Given the description of an element on the screen output the (x, y) to click on. 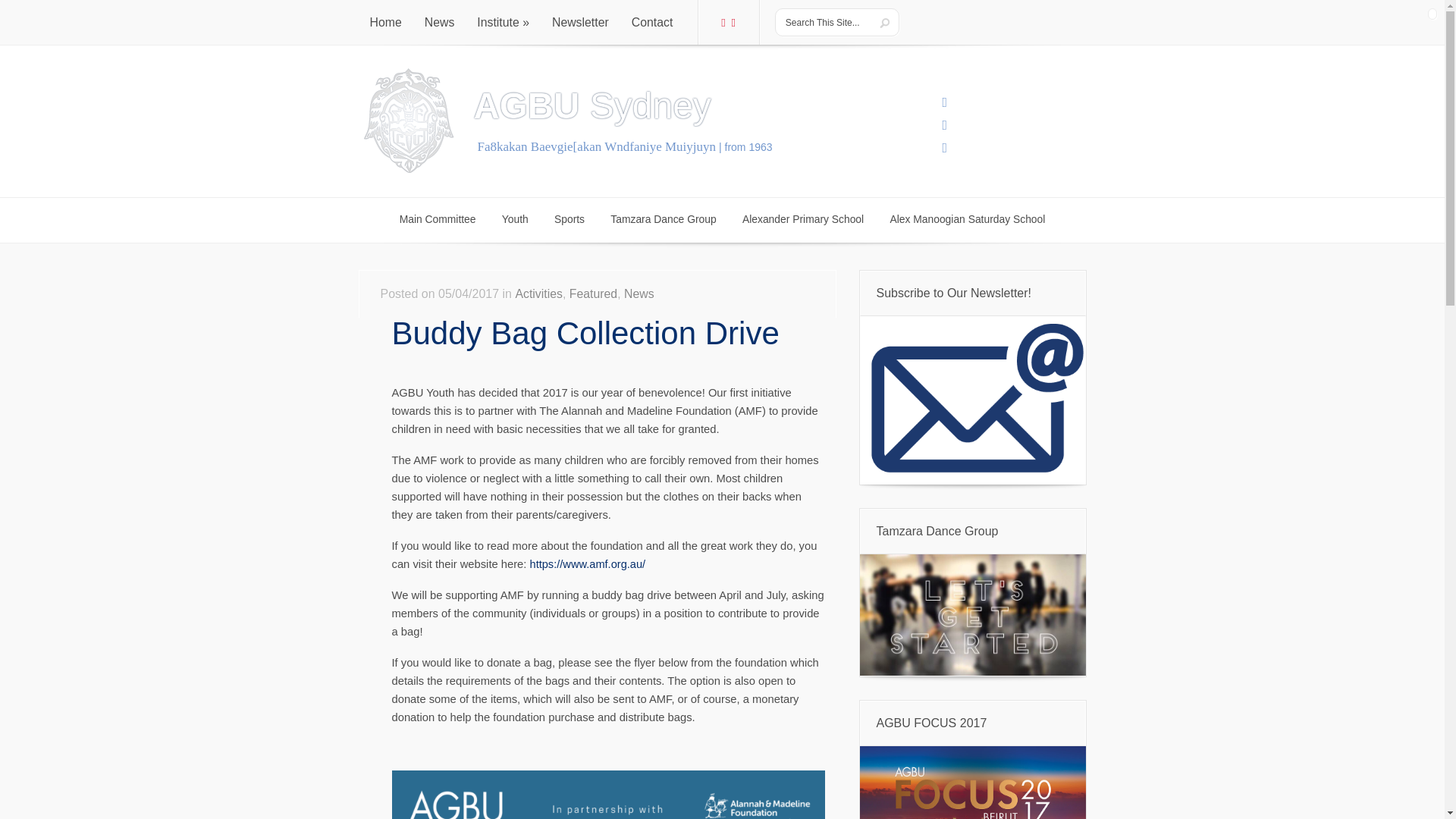
Contact (652, 22)
Institute (502, 22)
Home (569, 220)
News (385, 22)
Search This Site... (439, 22)
Newsletter (662, 220)
Activities (824, 22)
